Given the description of an element on the screen output the (x, y) to click on. 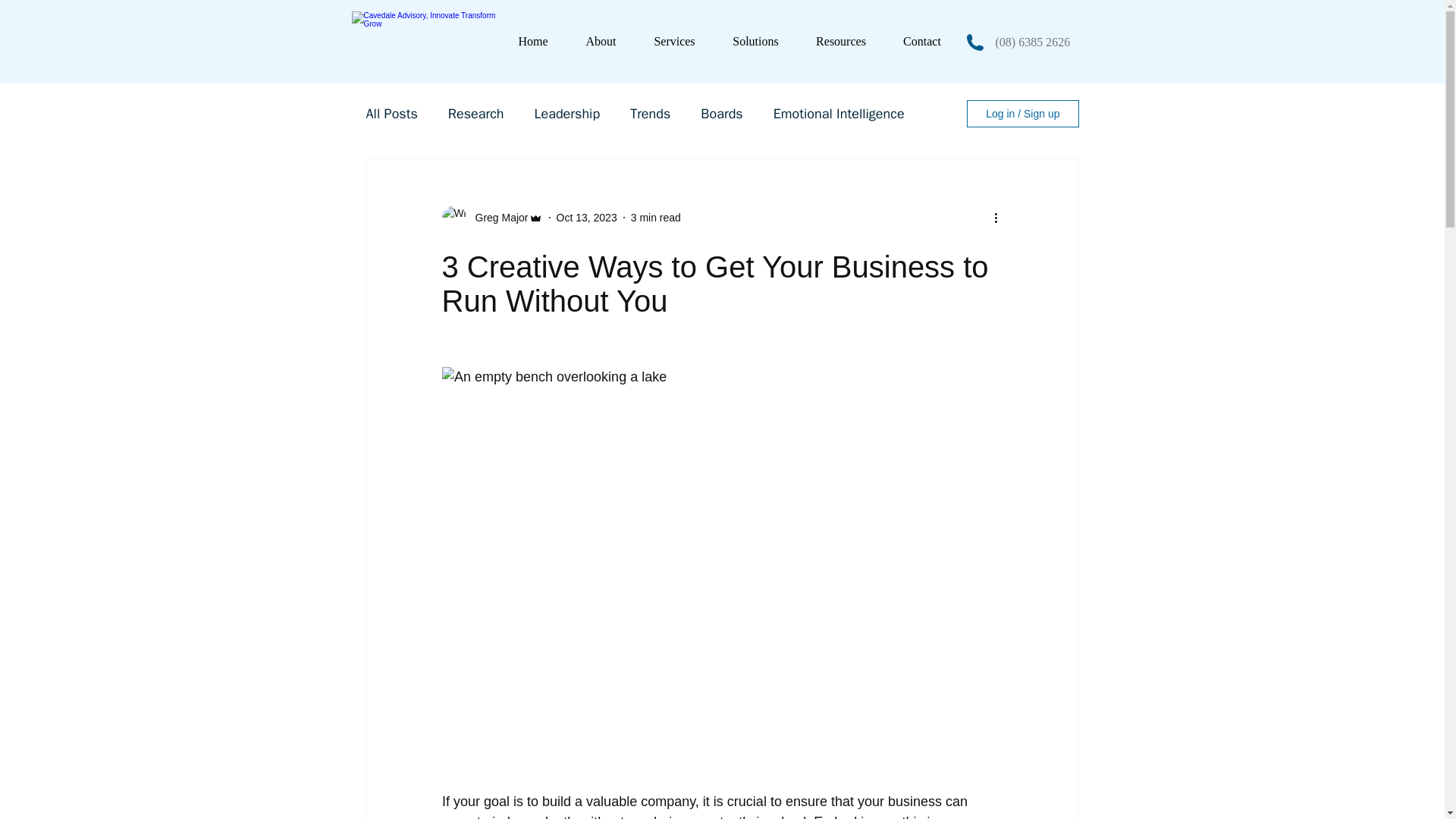
Emotional Intelligence (838, 113)
Resources (841, 41)
Contact (921, 41)
3 min read (655, 217)
Home (532, 41)
About (600, 41)
Leadership (566, 113)
Research (475, 113)
Oct 13, 2023 (586, 217)
Services (674, 41)
Greg Major (496, 217)
Boards (721, 113)
Trends (649, 113)
All Posts (390, 113)
Solutions (755, 41)
